Given the description of an element on the screen output the (x, y) to click on. 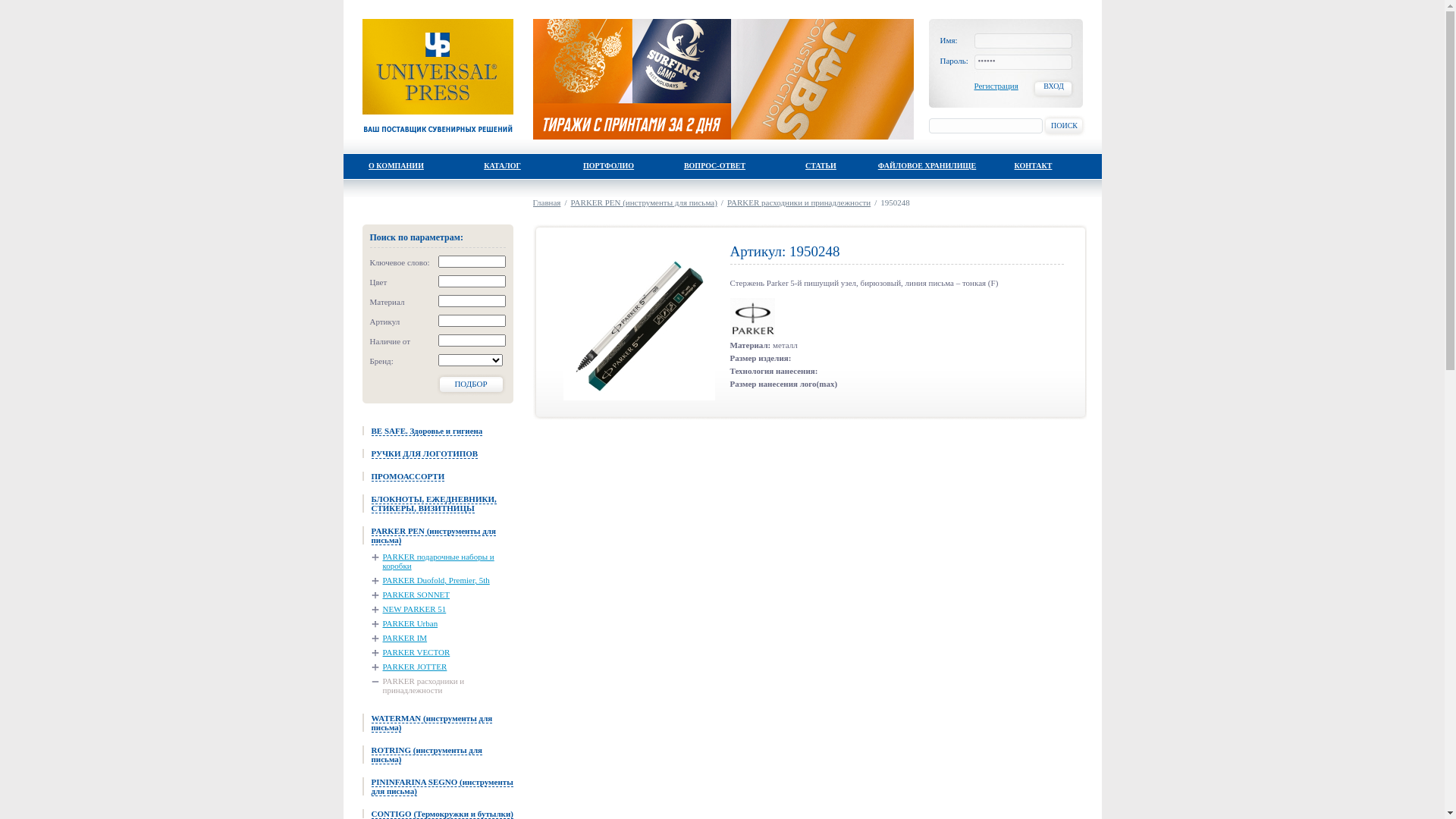
NEW PARKER 51 Element type: text (408, 608)
PARKER SONNET Element type: text (410, 594)
PARKER IM Element type: text (399, 637)
PARKER Urban Element type: text (404, 622)
PARKER VECTOR Element type: text (410, 651)
PARKER JOTTER Element type: text (409, 666)
PARKER Duofold, Premier, 5th Element type: text (430, 579)
